Given the description of an element on the screen output the (x, y) to click on. 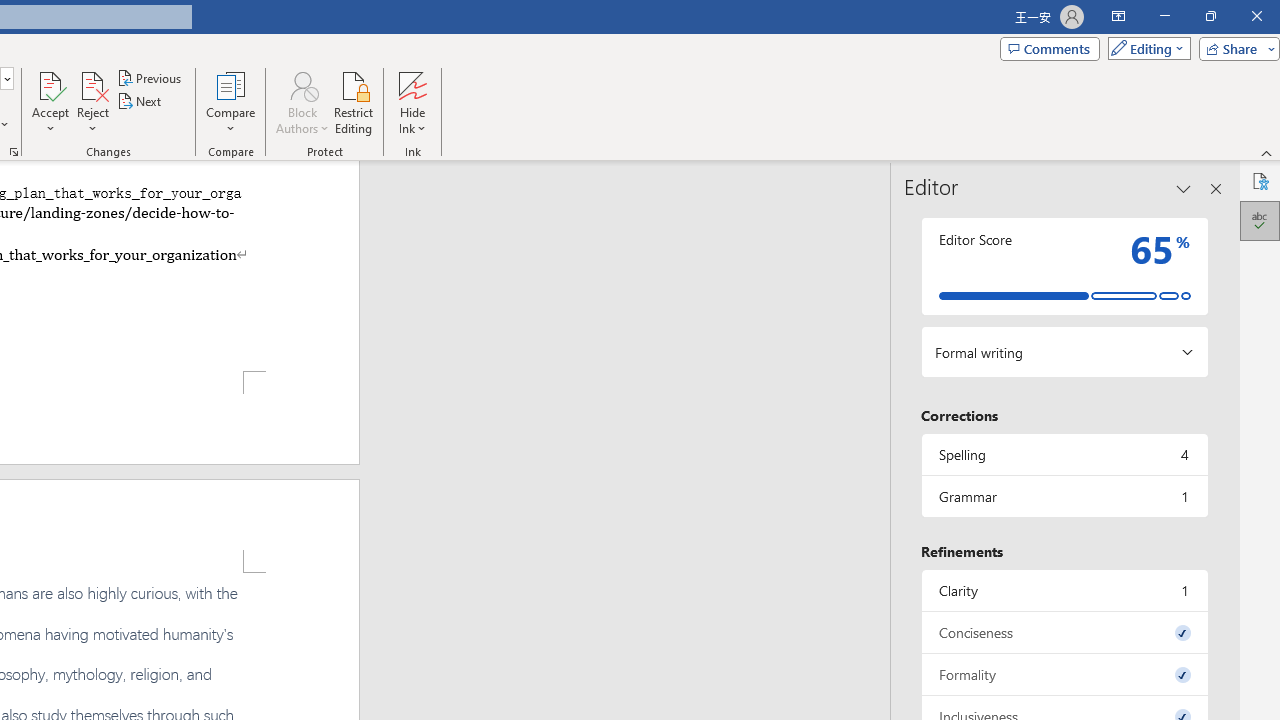
Next (140, 101)
Editor Score 65% (1064, 266)
Change Tracking Options... (13, 151)
Hide Ink (412, 102)
Editing (1144, 47)
Reject (92, 102)
Accessibility (1260, 180)
Clarity, 1 issue. Press space or enter to review items. (1064, 590)
Block Authors (302, 102)
